Given the description of an element on the screen output the (x, y) to click on. 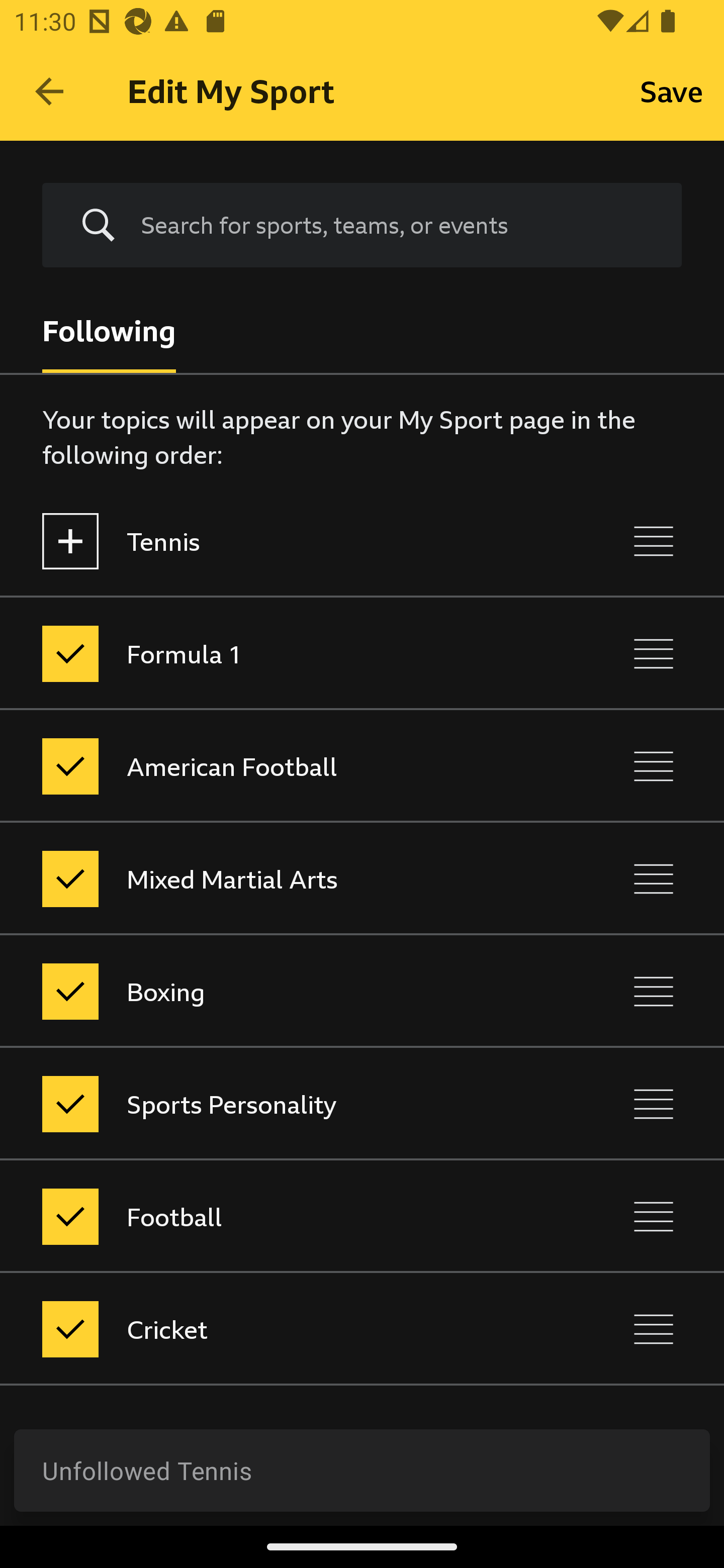
Navigate up (49, 91)
Save (671, 90)
Search for sports, teams, or events (361, 225)
Search for sports, teams, or events (396, 224)
Tennis (277, 540)
Reorder Tennis (653, 540)
Formula 1 (277, 653)
Reorder Formula 1 (653, 653)
American Football (277, 766)
Reorder American Football (653, 766)
Mixed Martial Arts (277, 878)
Reorder Mixed Martial Arts (653, 878)
Boxing (277, 990)
Reorder Boxing (653, 990)
Sports Personality (277, 1103)
Reorder Sports Personality (653, 1103)
Football (277, 1216)
Reorder Football (653, 1216)
Cricket (277, 1329)
Reorder Cricket (653, 1329)
